Given the description of an element on the screen output the (x, y) to click on. 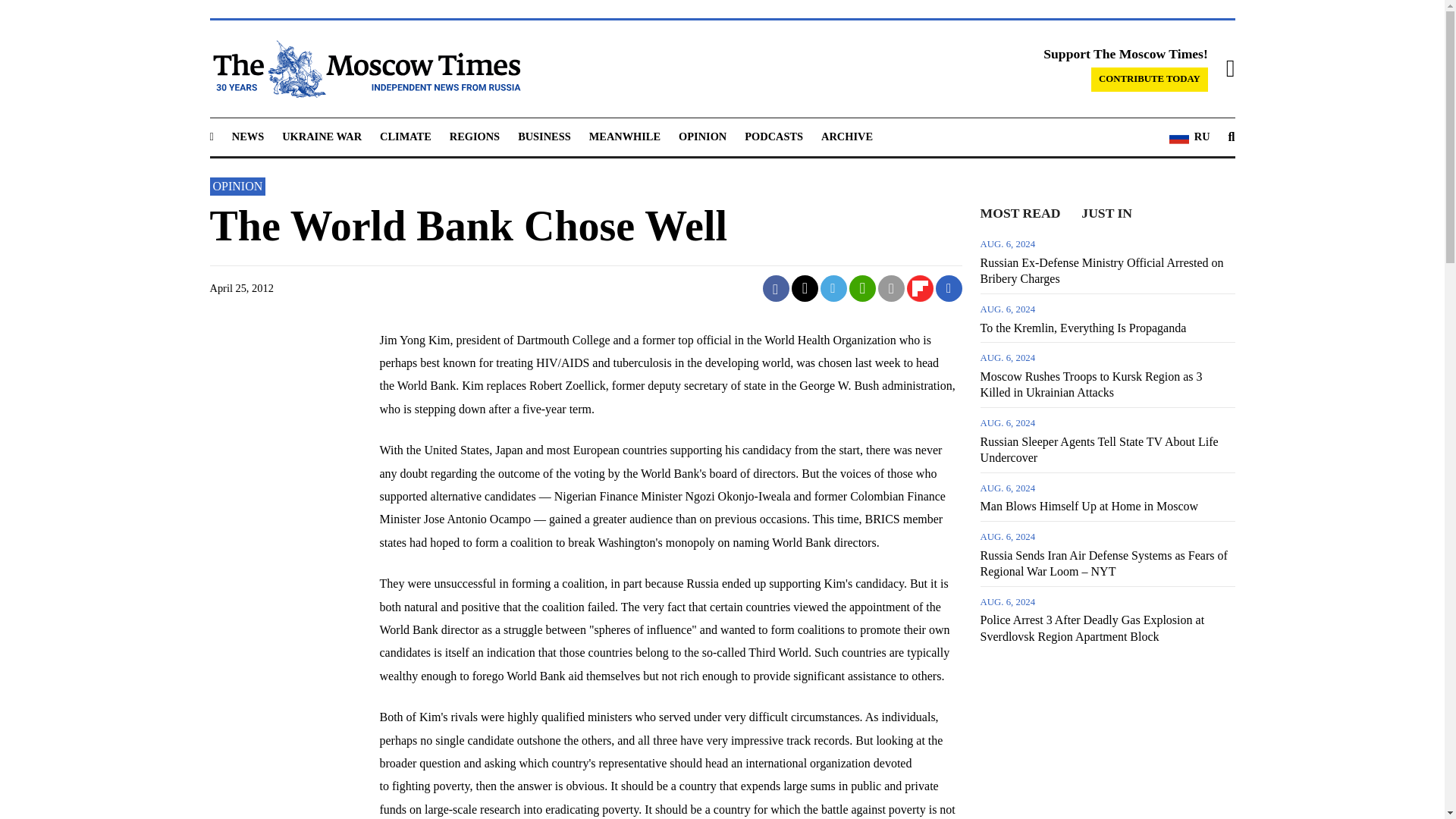
Share on WhatsApp (863, 287)
Share with email (890, 287)
CLIMATE (405, 136)
Share on Telegram (834, 288)
MEANWHILE (625, 136)
Search (1231, 137)
CONTRIBUTE TODAY (1149, 79)
OPINION (702, 136)
ARCHIVE (846, 136)
UKRAINE WAR (321, 136)
To the Kremlin, Everything Is Propaganda (1106, 316)
Download as PDF (948, 288)
REGIONS (474, 136)
PODCASTS (773, 136)
